Given the description of an element on the screen output the (x, y) to click on. 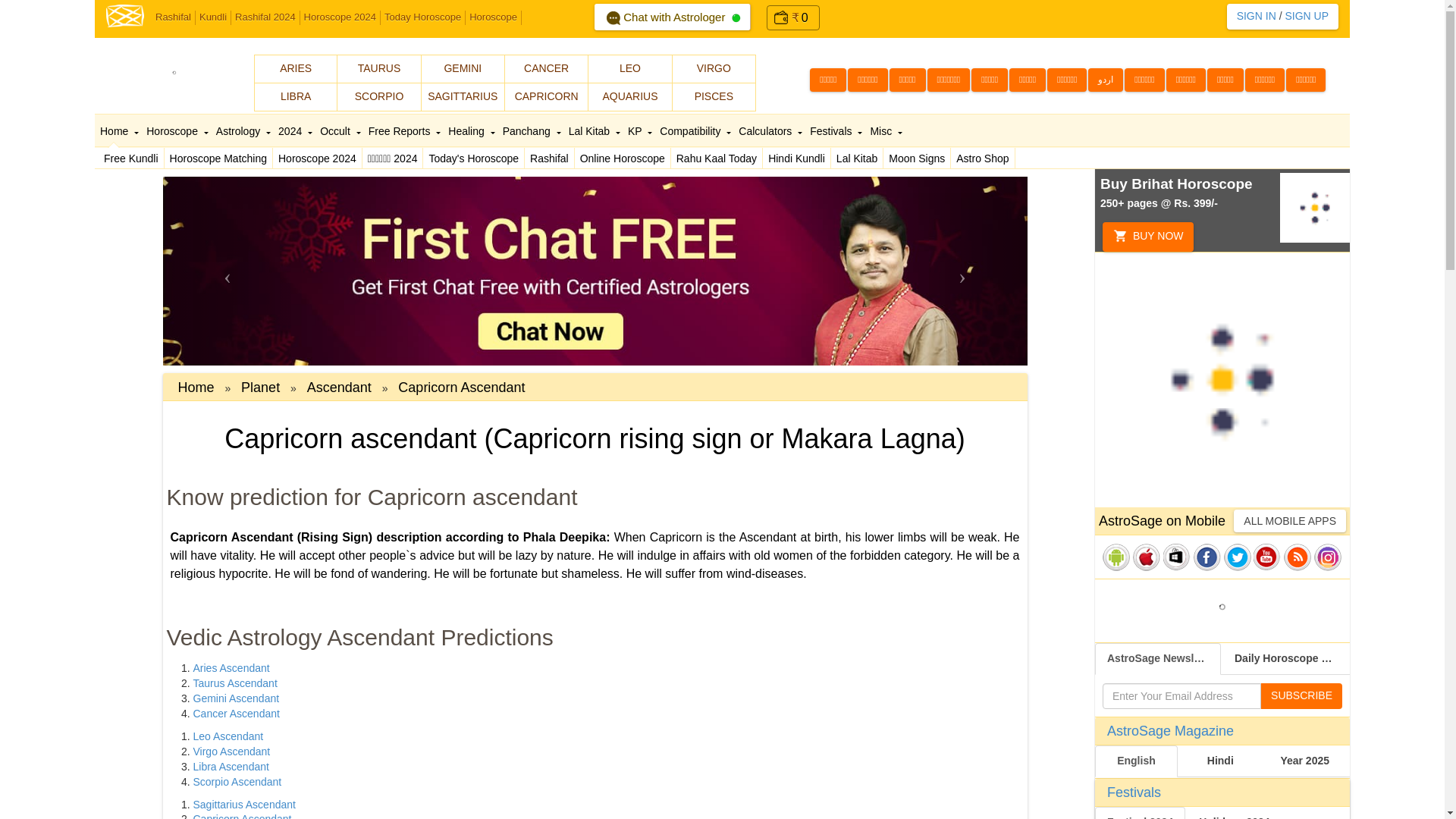
Tamil (827, 79)
Malayalam (1066, 79)
Wallet (780, 23)
Odia (1225, 79)
Hindi (1143, 79)
Urdu (1104, 79)
Bengali (1027, 79)
Marathi (989, 79)
www.AstroSage.com: Vedic Astrology (125, 14)
Telugu (866, 79)
